Given the description of an element on the screen output the (x, y) to click on. 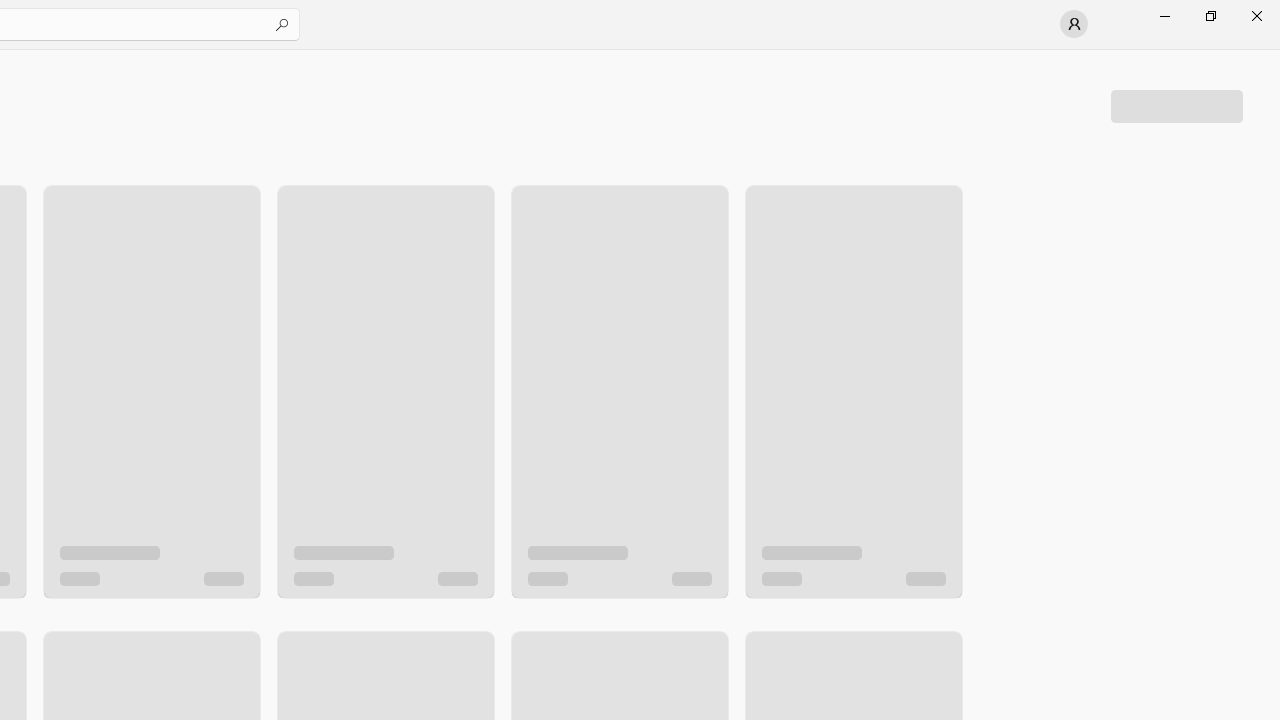
Filters (1176, 105)
Vertical Small Decrease (1272, 55)
Furiosa: A Mad Max Saga + Bonus Content. Starts at $19.99   (618, 372)
